Given the description of an element on the screen output the (x, y) to click on. 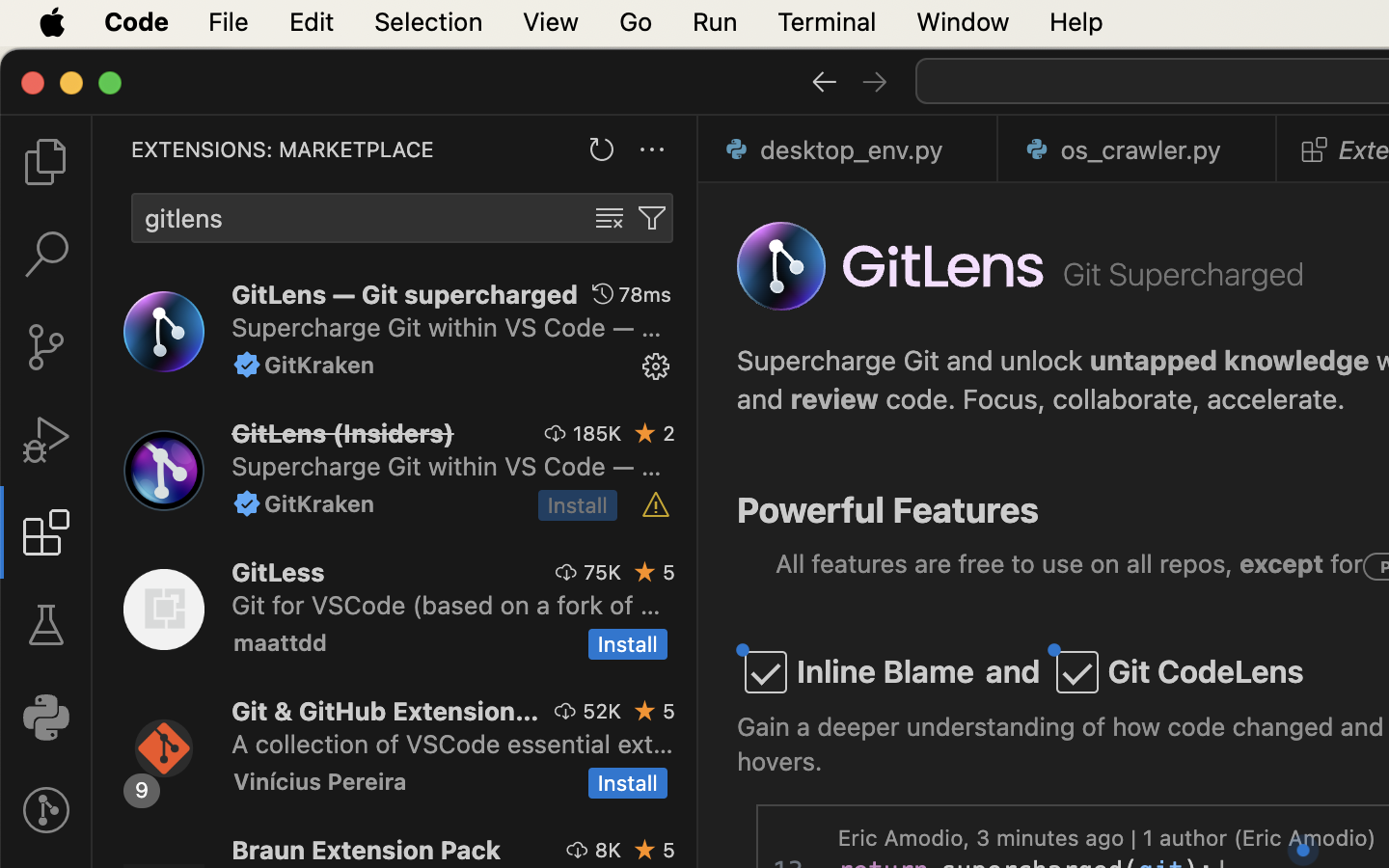
0 os_crawler.py   Element type: AXRadioButton (1138, 149)
75K Element type: AXStaticText (602, 571)
52K Element type: AXStaticText (601, 710)
A collection of VSCode essential extensions to work with Git and GitHub. Element type: AXStaticText (452, 743)
0 Element type: AXRadioButton (46, 717)
